Given the description of an element on the screen output the (x, y) to click on. 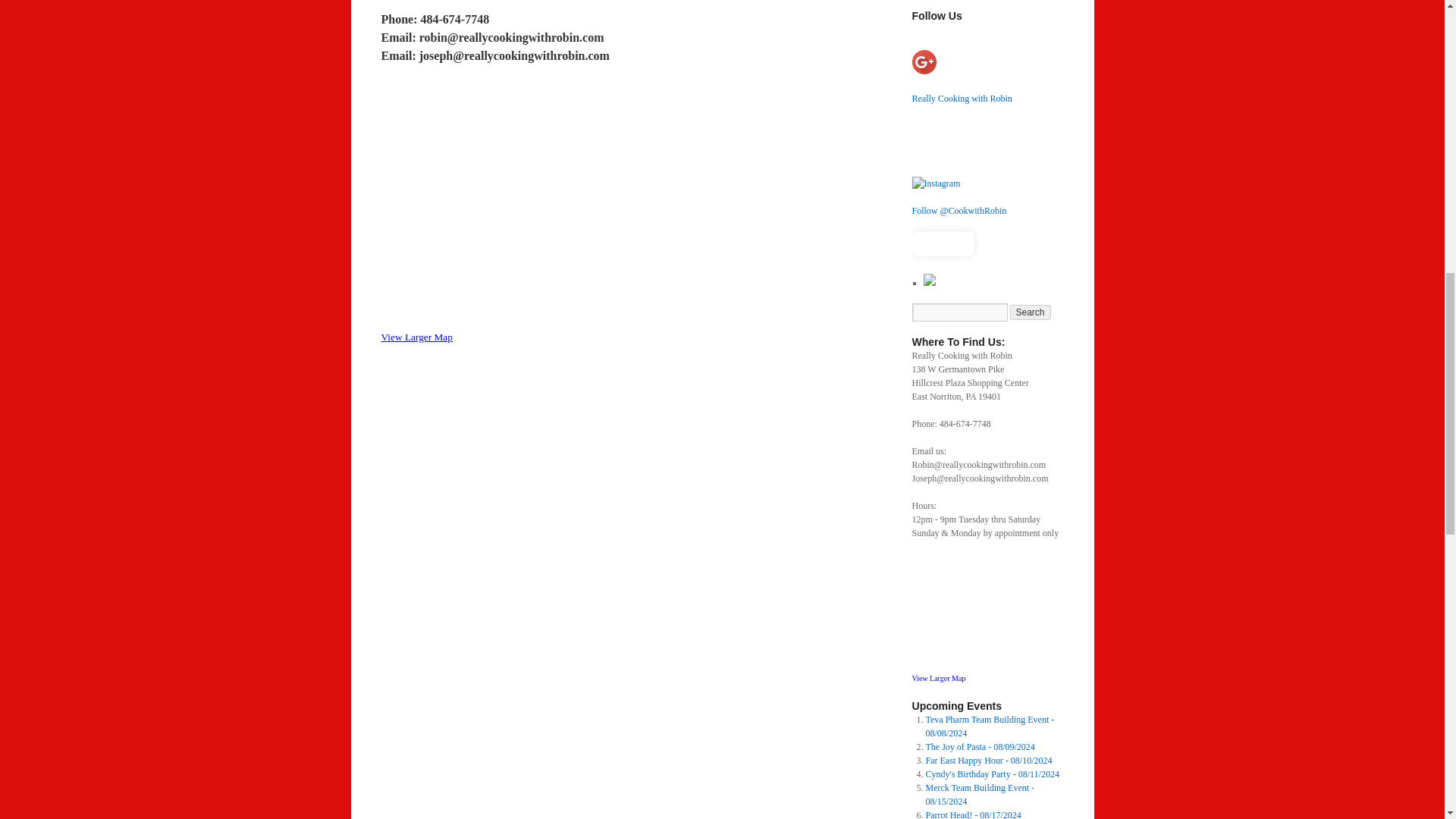
View Larger Map (938, 678)
Search (1030, 312)
View Larger Map (415, 337)
Search (1030, 312)
Really Cooking with Robin (961, 98)
